Given the description of an element on the screen output the (x, y) to click on. 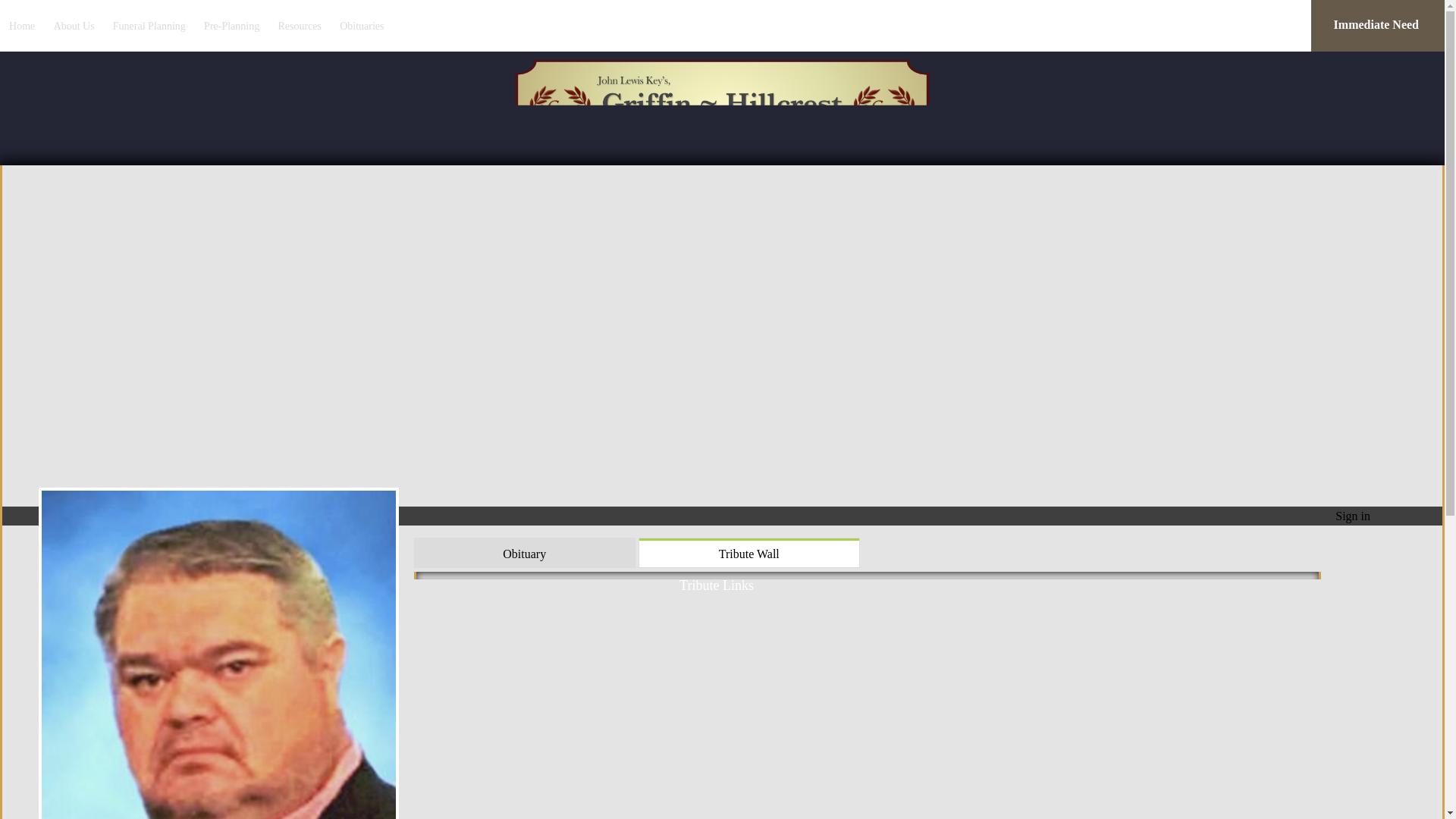
Resources (299, 25)
Tribute Links (721, 580)
Obituaries (361, 25)
Sign in (1352, 515)
About Us (74, 25)
Funeral Planning (148, 25)
Obituary (524, 552)
Tribute Wall (749, 552)
Pre-Planning (231, 25)
